Given the description of an element on the screen output the (x, y) to click on. 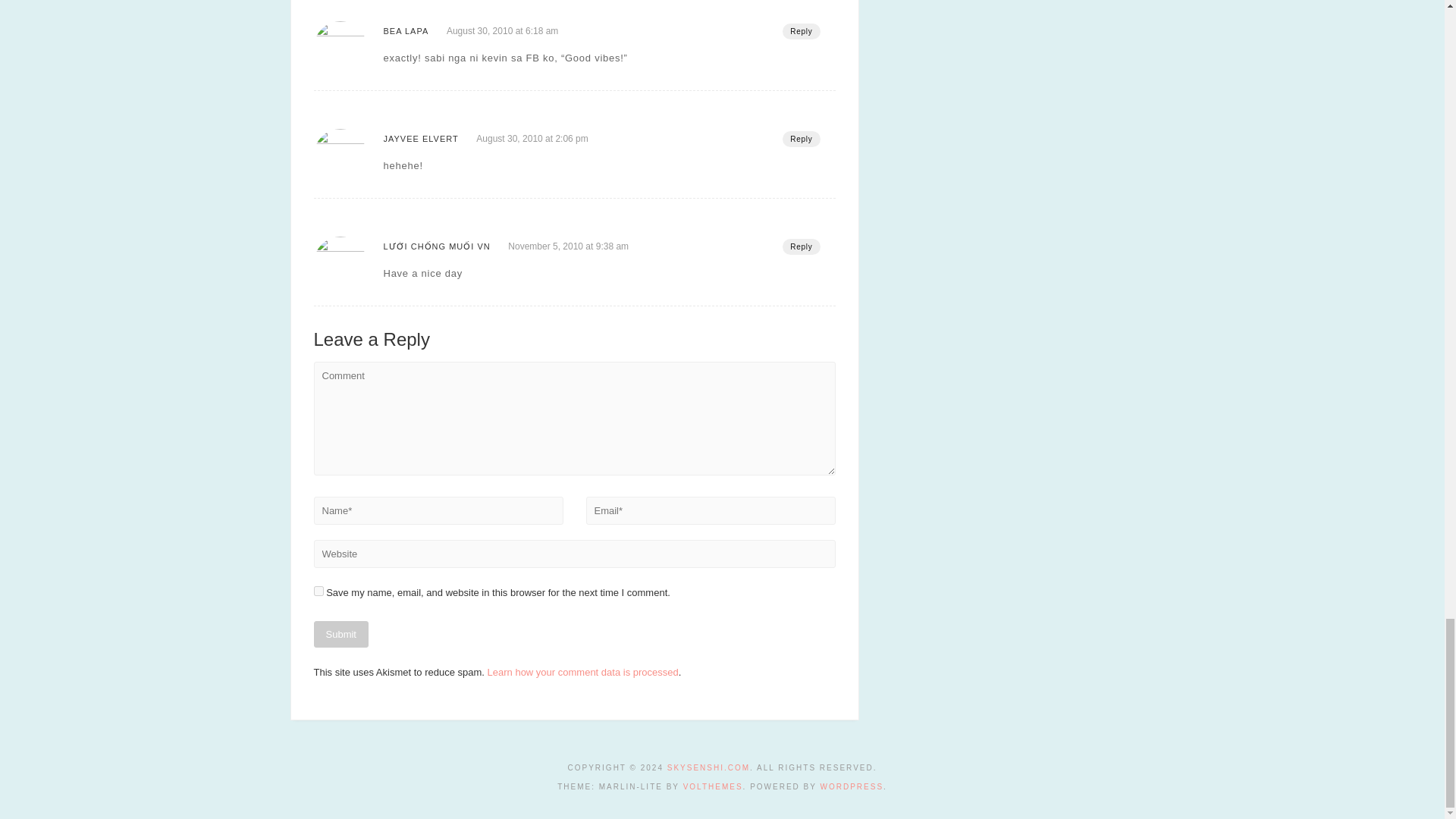
yes (318, 591)
VolThemes (712, 786)
WordPress (852, 786)
Submit (341, 633)
skysenshi.com (707, 767)
